Given the description of an element on the screen output the (x, y) to click on. 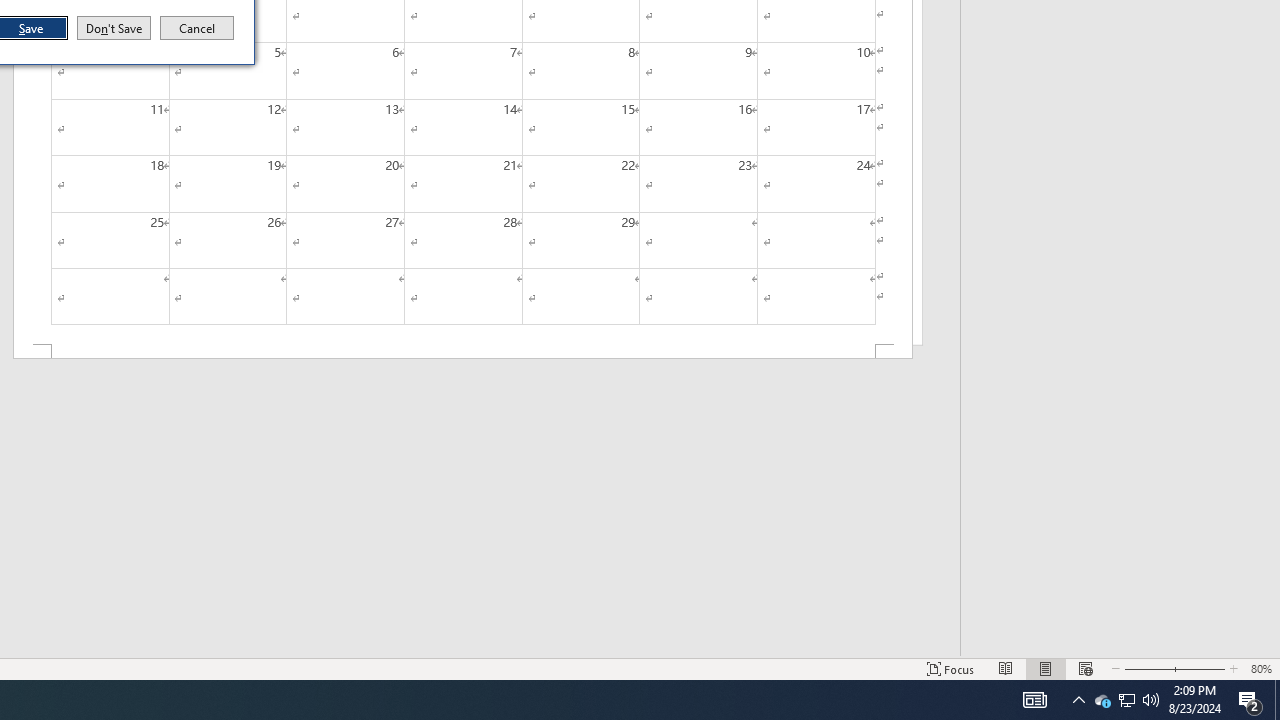
Cancel (197, 27)
User Promoted Notification Area (1126, 699)
Q2790: 100% (1151, 699)
Don't Save (1102, 699)
Footer -Section 2- (113, 27)
